Given the description of an element on the screen output the (x, y) to click on. 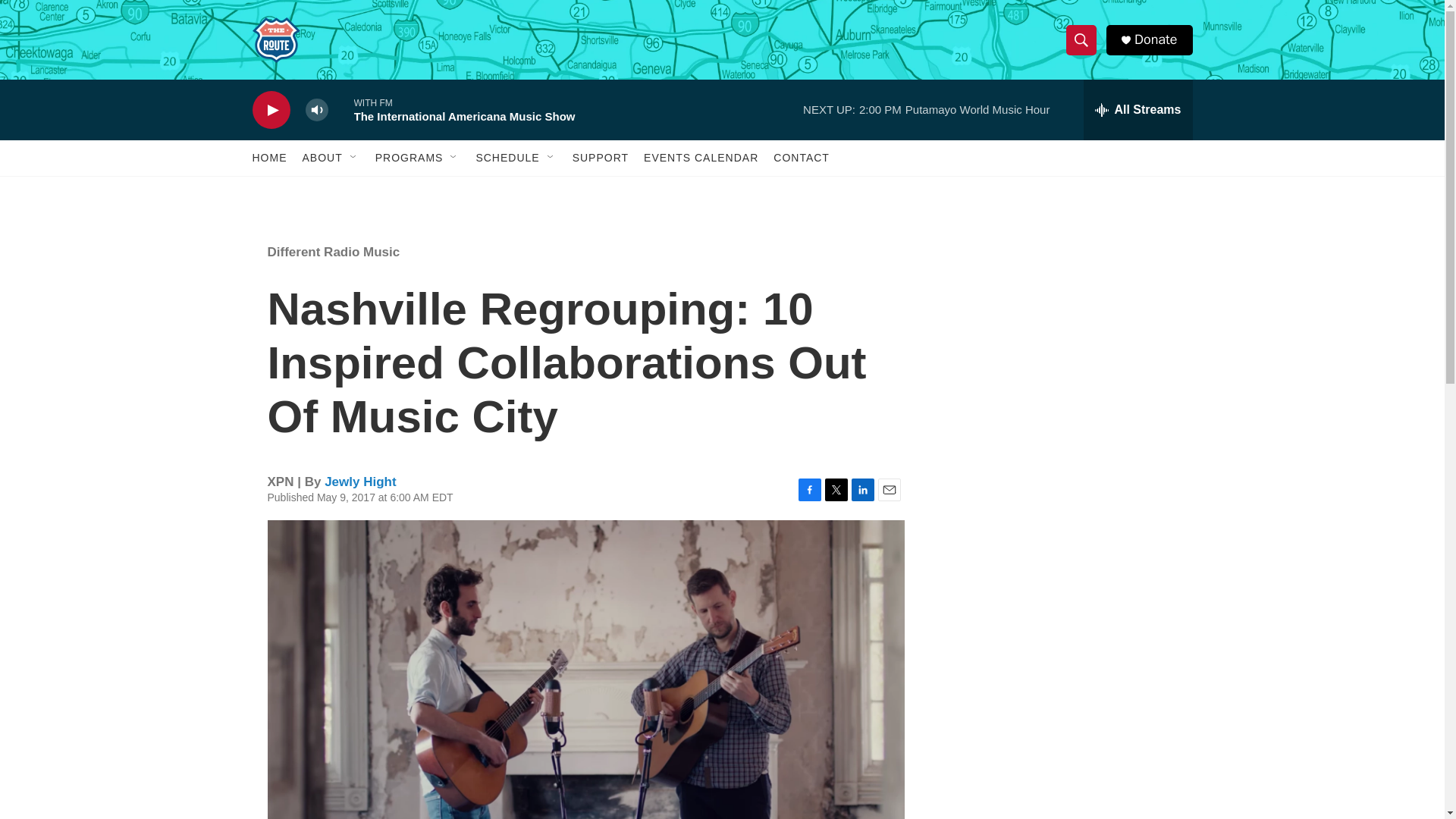
Show Search (1080, 39)
Donate (1155, 39)
3rd party ad content (1062, 351)
